Given the description of an element on the screen output the (x, y) to click on. 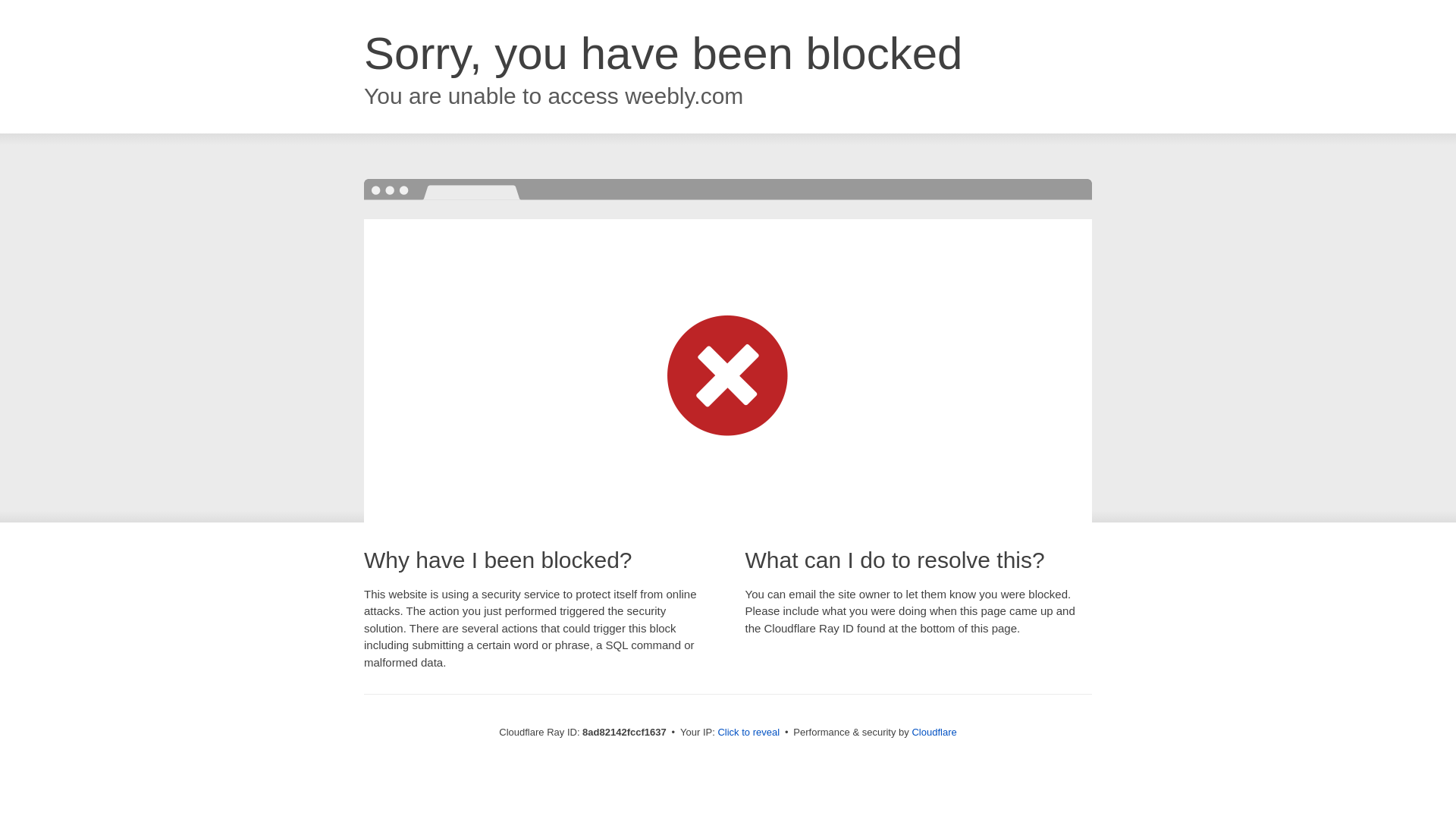
Cloudflare (933, 731)
Click to reveal (747, 732)
